Given the description of an element on the screen output the (x, y) to click on. 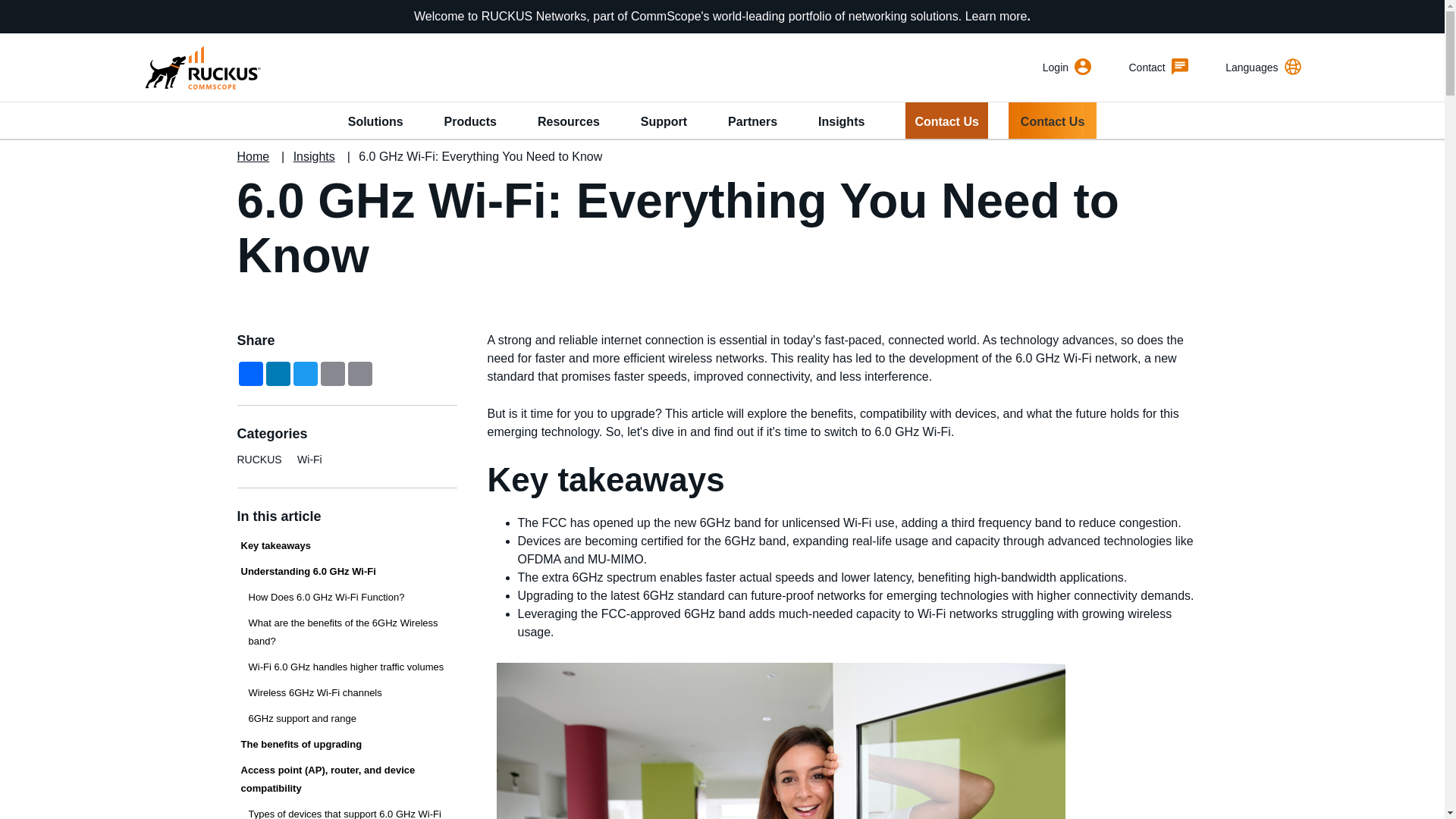
RUCKUS Networks (199, 67)
Insights (841, 120)
Solutions (375, 120)
Contact (1158, 67)
Resources (568, 120)
Languages (1262, 67)
Contact Us (946, 120)
Products (470, 120)
Login (1066, 67)
Partners (752, 120)
Contact Us (1052, 120)
Learn more (996, 15)
Support (663, 120)
